Given the description of an element on the screen output the (x, y) to click on. 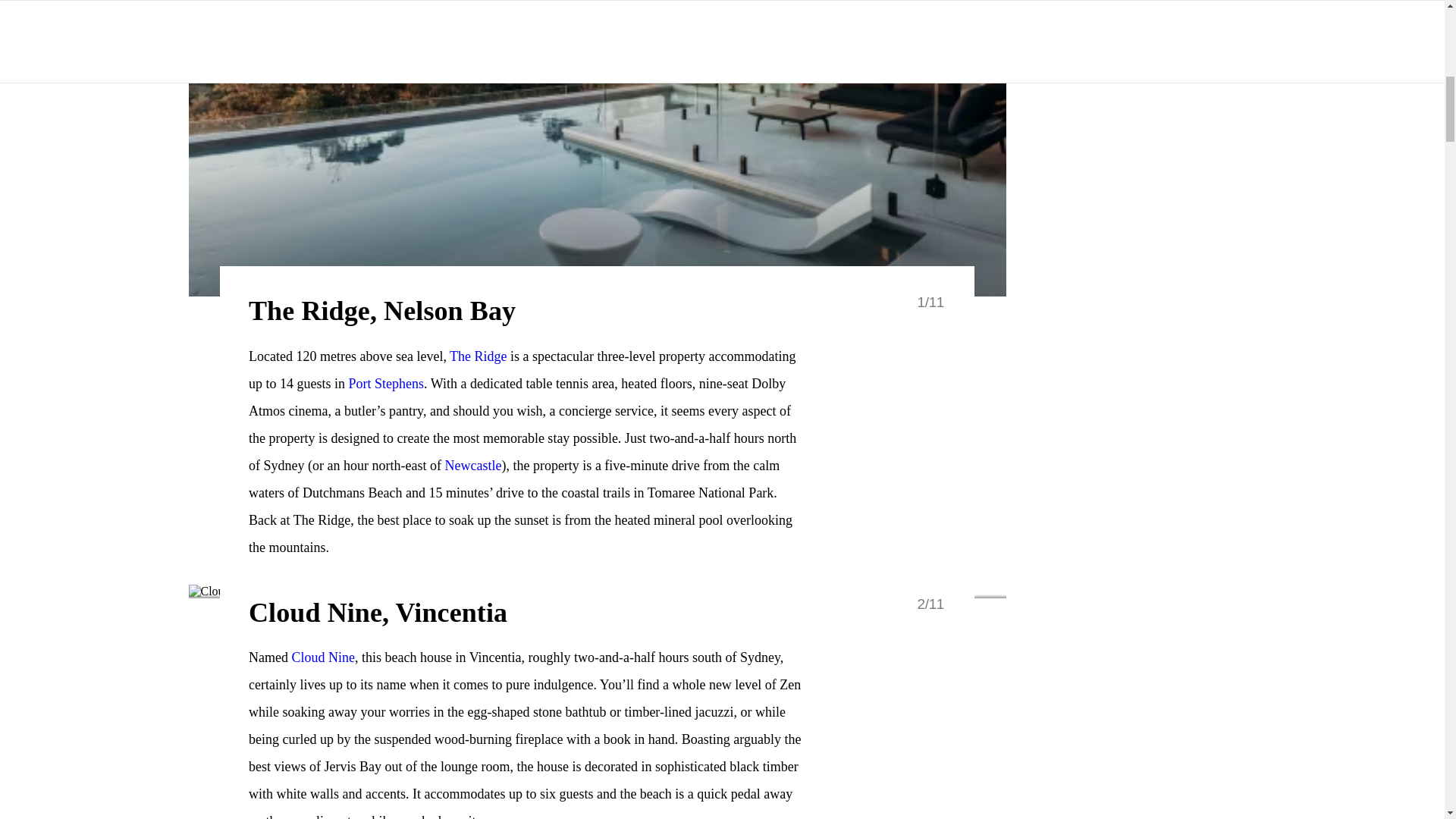
The New Newcastle: Why Your Next Break Should Be Here (472, 465)
The Ridge Nelson Bay (477, 355)
Newcastle (472, 465)
Cloud Nine (323, 657)
The Ridge (477, 355)
Make Port Stephens Your Next Family Getaway (387, 383)
Port Stephens (387, 383)
Cloud Nine (323, 657)
